Given the description of an element on the screen output the (x, y) to click on. 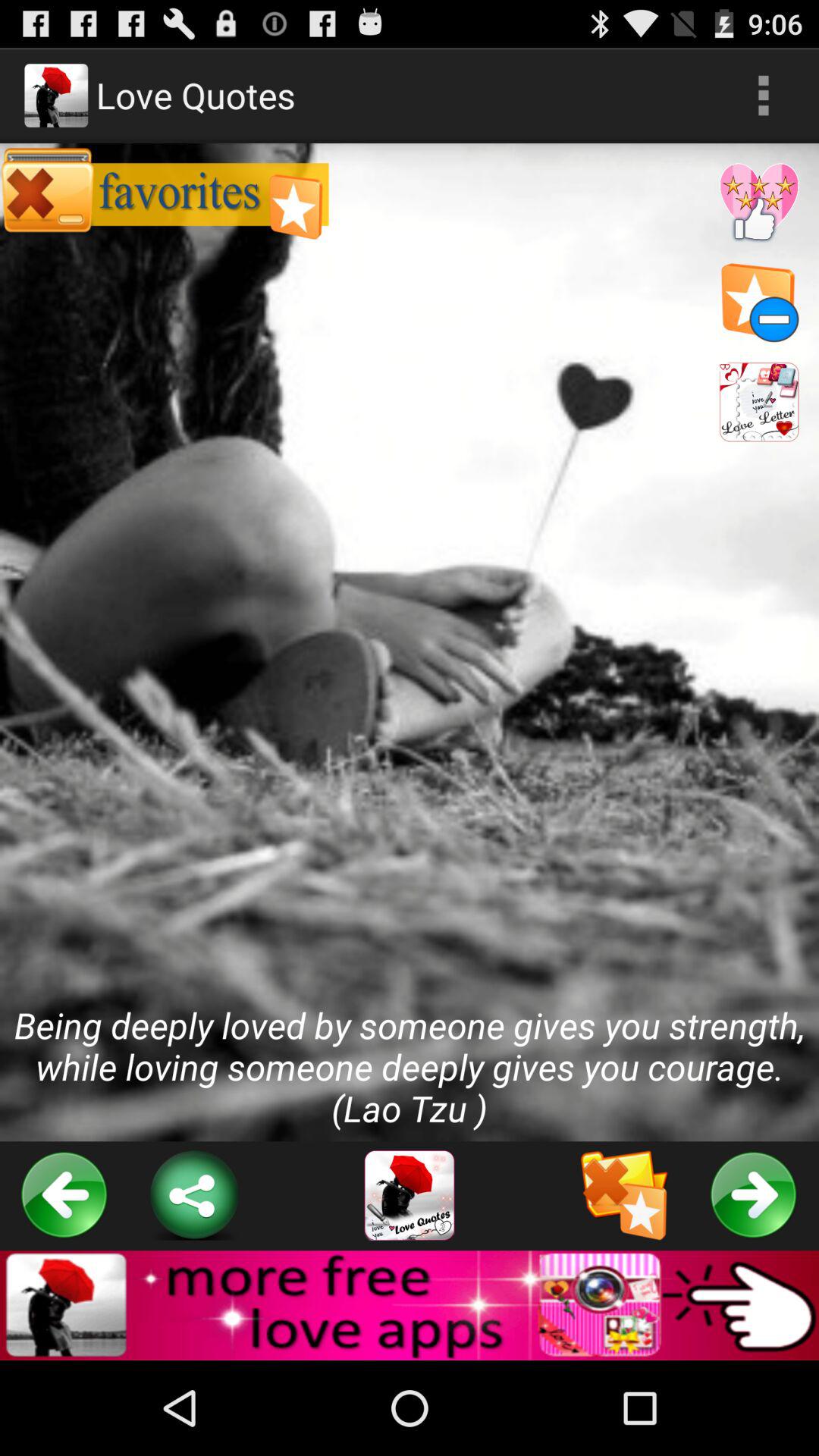
choose the being deeply loved (409, 642)
